Given the description of an element on the screen output the (x, y) to click on. 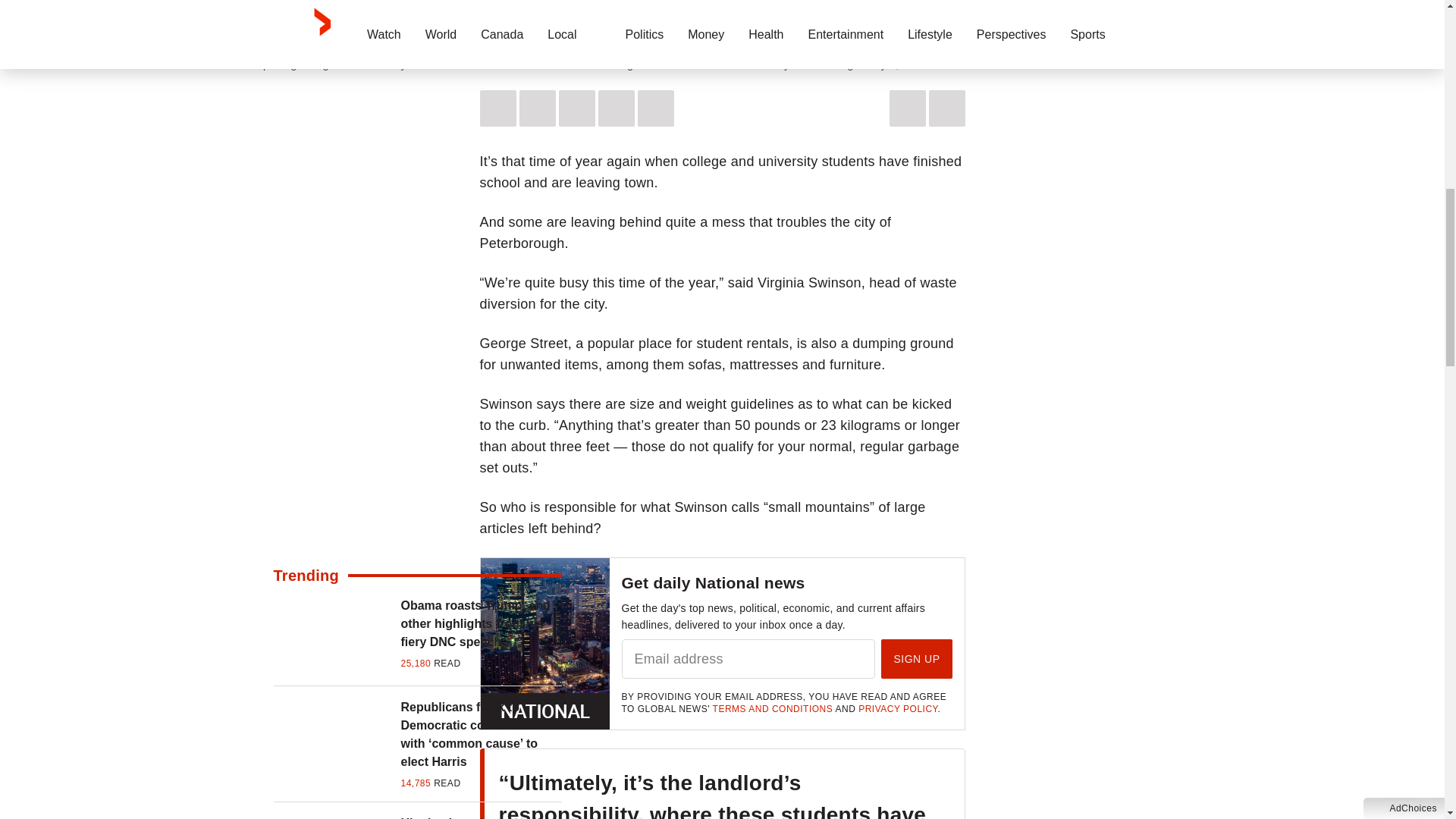
Sticky Video (721, 22)
Ukraine launches one of its largest drone attacks on Moscow (480, 816)
